Given the description of an element on the screen output the (x, y) to click on. 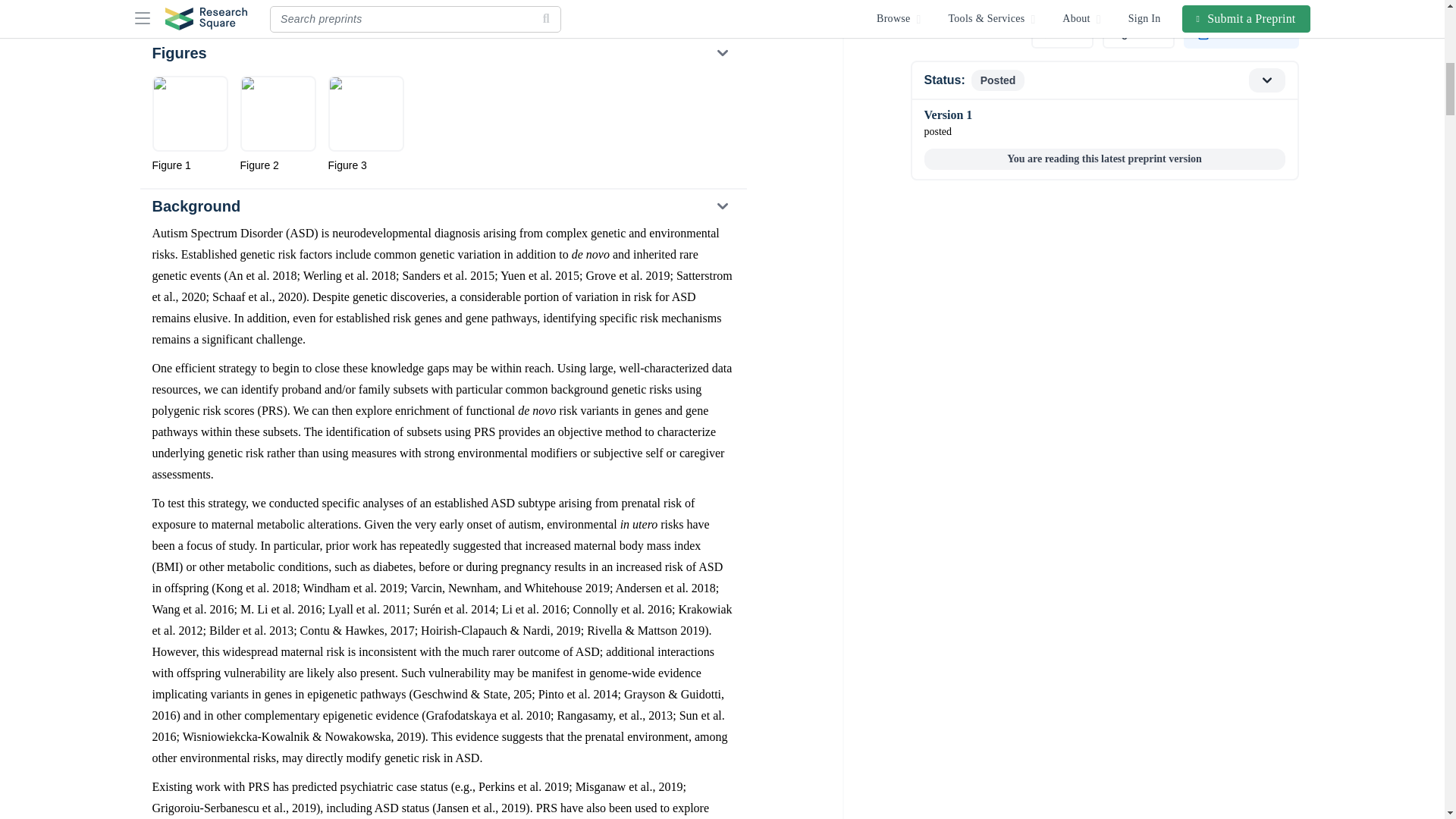
Figures (442, 52)
Background (442, 205)
Molecular Biology (202, 8)
